Given the description of an element on the screen output the (x, y) to click on. 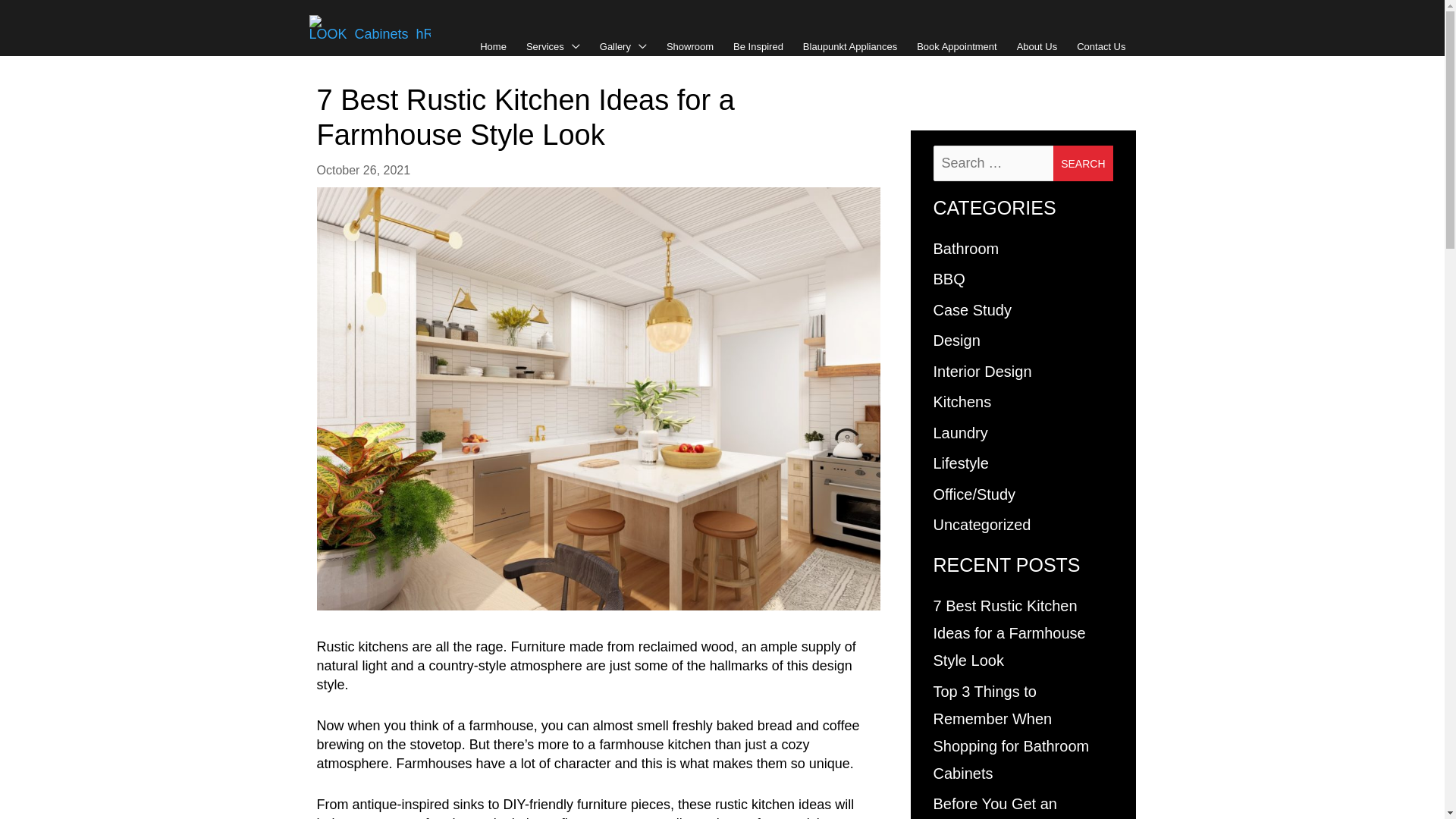
mitch@lookcabinets.net Element type: text (488, 24)
Home Element type: text (493, 46)
Showroom Element type: text (689, 46)
Book Appointment Element type: text (956, 46)
About Us Element type: text (1036, 46)
Contact Us Element type: text (1100, 46)
Top 3 Things to Remember When Shopping for Bathroom Cabinets Element type: text (1010, 732)
Blaupunkt Appliances Element type: text (849, 46)
Interior Design Element type: text (981, 371)
Kitchens Element type: text (961, 401)
BBQ Element type: text (948, 278)
Design Element type: text (955, 340)
Search Element type: text (1095, 161)
Gallery Element type: text (622, 46)
07 5472 7272 Element type: text (362, 24)
Bathroom Element type: text (965, 248)
Services Element type: text (552, 46)
Uncategorized Element type: text (981, 524)
Laundry Element type: text (959, 432)
7 Best Rustic Kitchen Ideas for a Farmhouse Style Look Element type: text (1008, 632)
Lifestyle Element type: text (960, 463)
Case Study Element type: text (971, 309)
Office/Study Element type: text (973, 494)
Be Inspired Element type: text (758, 46)
